Given the description of an element on the screen output the (x, y) to click on. 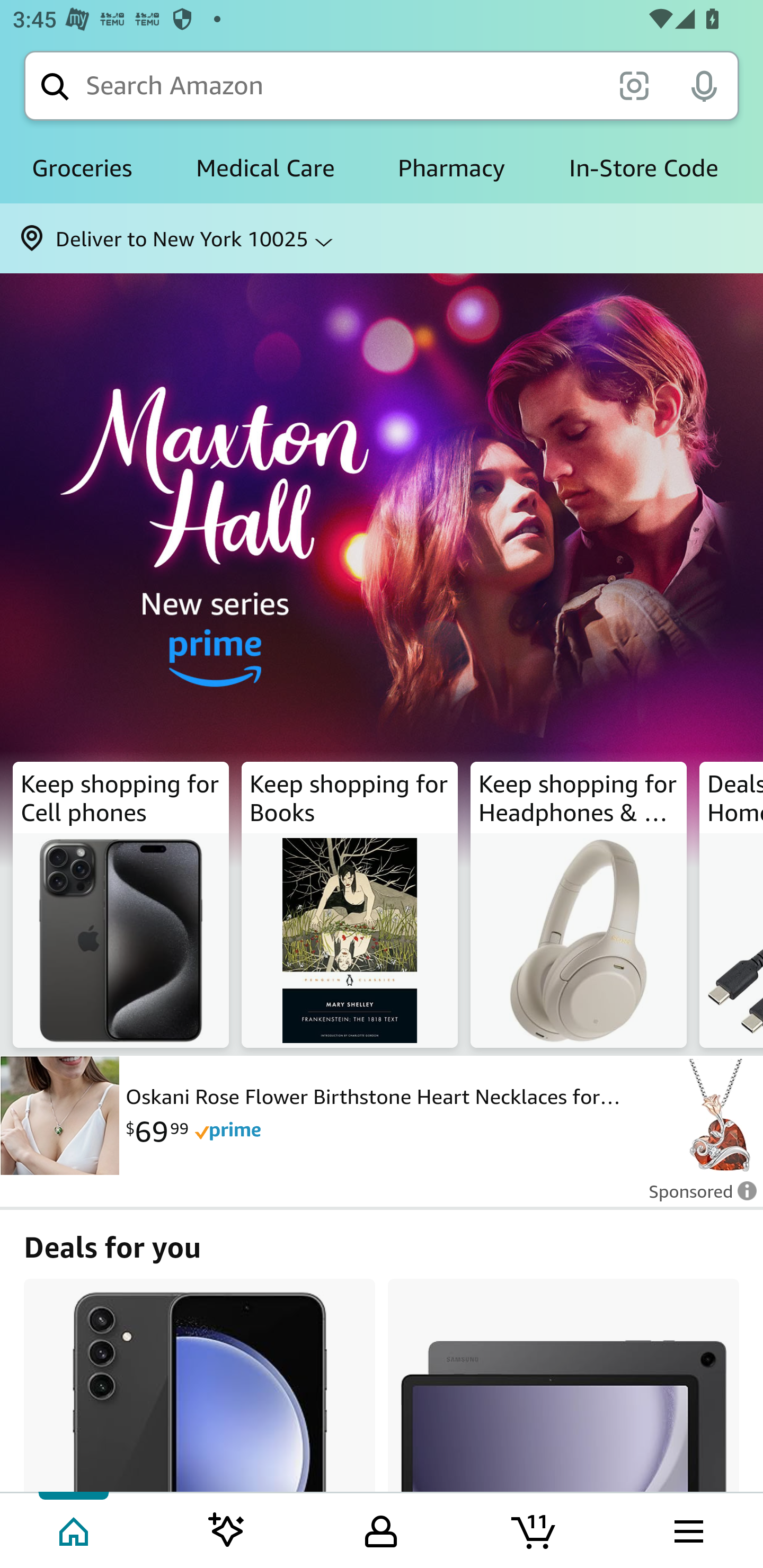
scan it (633, 85)
Groceries (82, 168)
Medical Care (265, 168)
Pharmacy (451, 168)
In-Store Code (643, 168)
Deliver to New York 10025 ⌵ (381, 237)
Keep shopping for Books Keep shopping for Books (349, 904)
Leave feedback on Sponsored ad Sponsored  (696, 1196)
Home Tab 1 of 5 (75, 1529)
Inspire feed Tab 2 of 5 (227, 1529)
Your Amazon.com Tab 3 of 5 (380, 1529)
Cart 11 items Tab 4 of 5 11 (534, 1529)
